Given the description of an element on the screen output the (x, y) to click on. 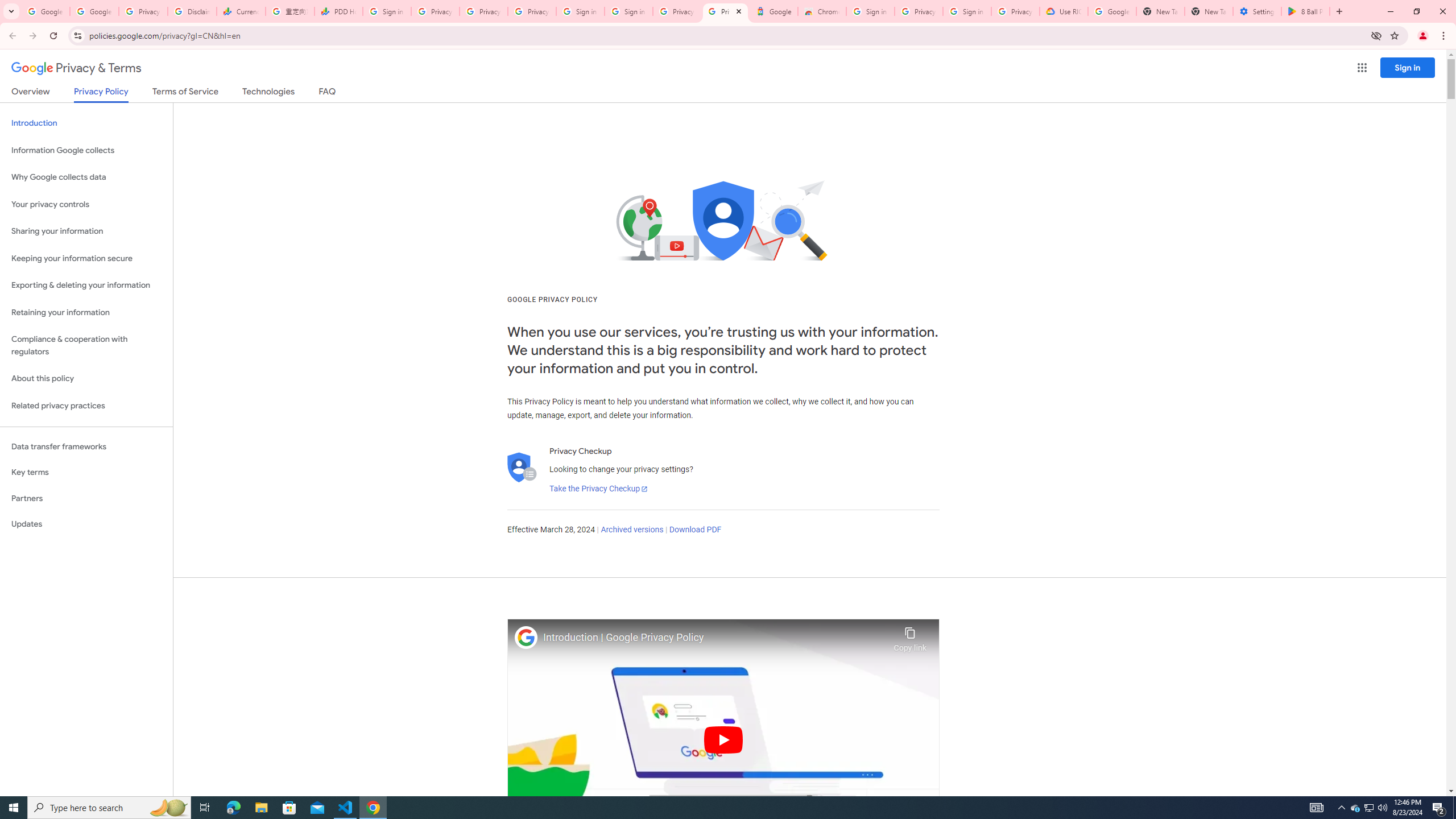
Sign in - Google Accounts (387, 11)
Google Workspace Admin Community (45, 11)
Privacy Checkup (532, 11)
Google (773, 11)
